Given the description of an element on the screen output the (x, y) to click on. 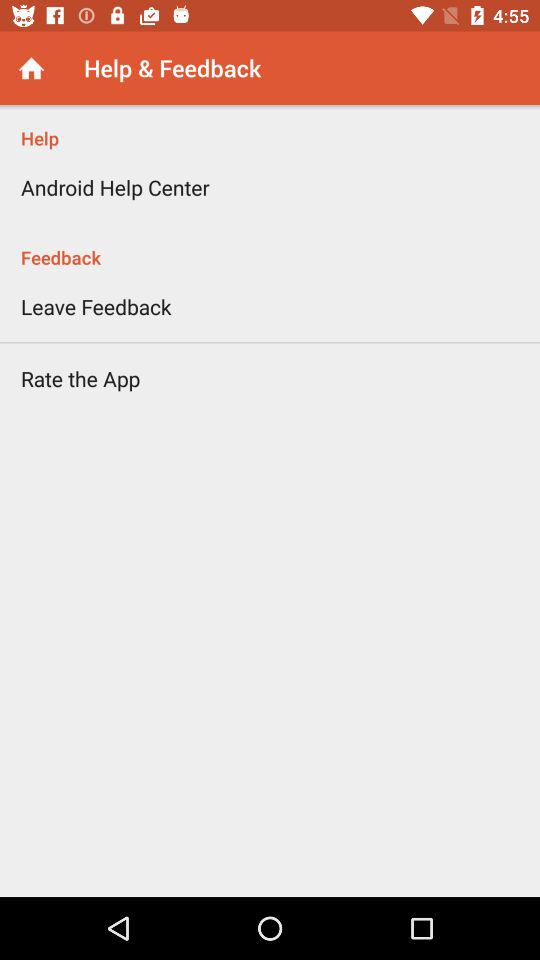
press the leave feedback icon (96, 306)
